Given the description of an element on the screen output the (x, y) to click on. 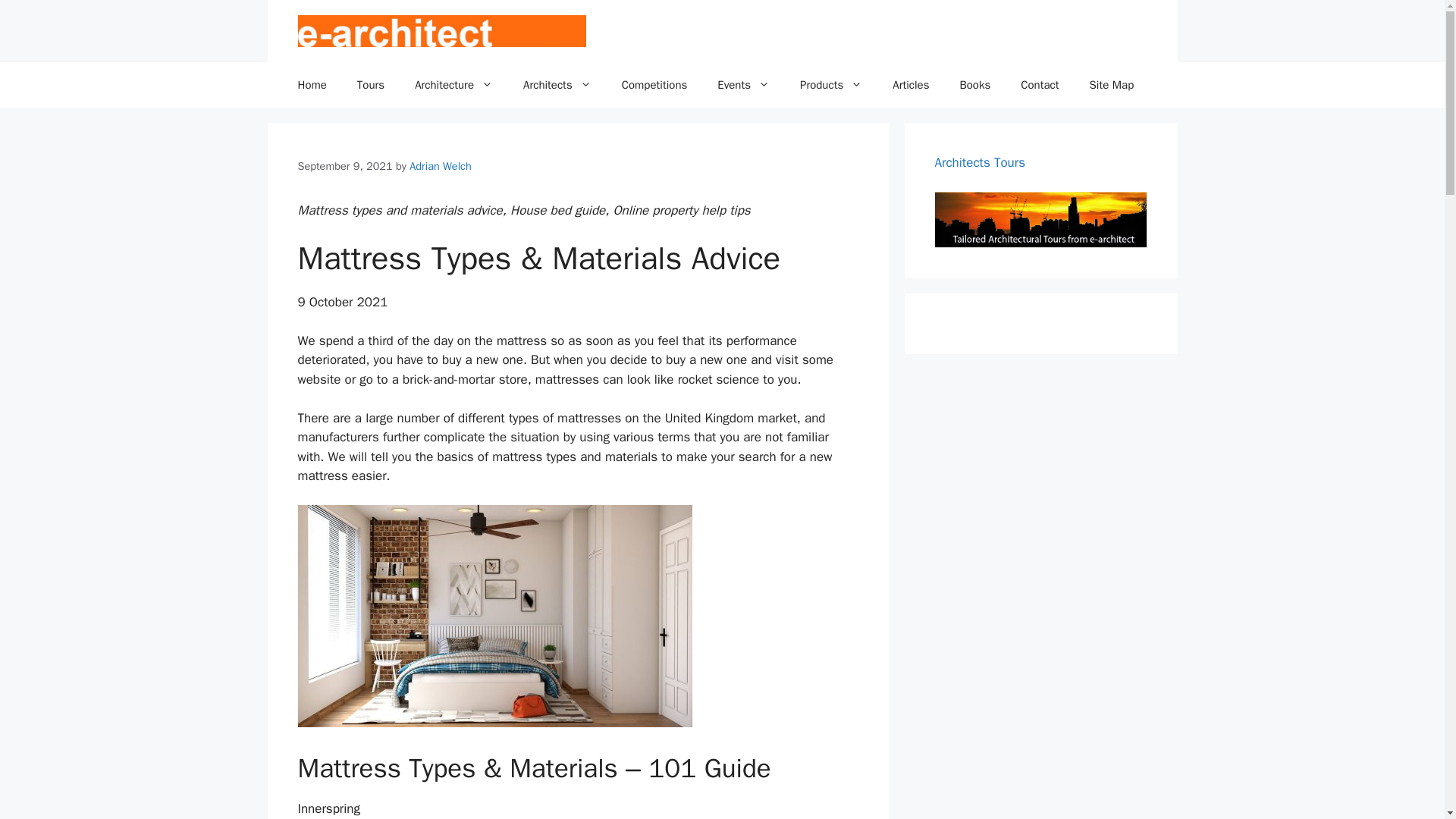
Architecture (453, 84)
View all posts by Adrian Welch (440, 165)
Architects (557, 84)
Home (311, 84)
Products (830, 84)
Architects Tours (979, 162)
Home (311, 84)
Tours (370, 84)
Books (974, 84)
Site Map (1112, 84)
Contact (1040, 84)
Competitions (655, 84)
Articles (910, 84)
Adrian Welch (440, 165)
Events (742, 84)
